Given the description of an element on the screen output the (x, y) to click on. 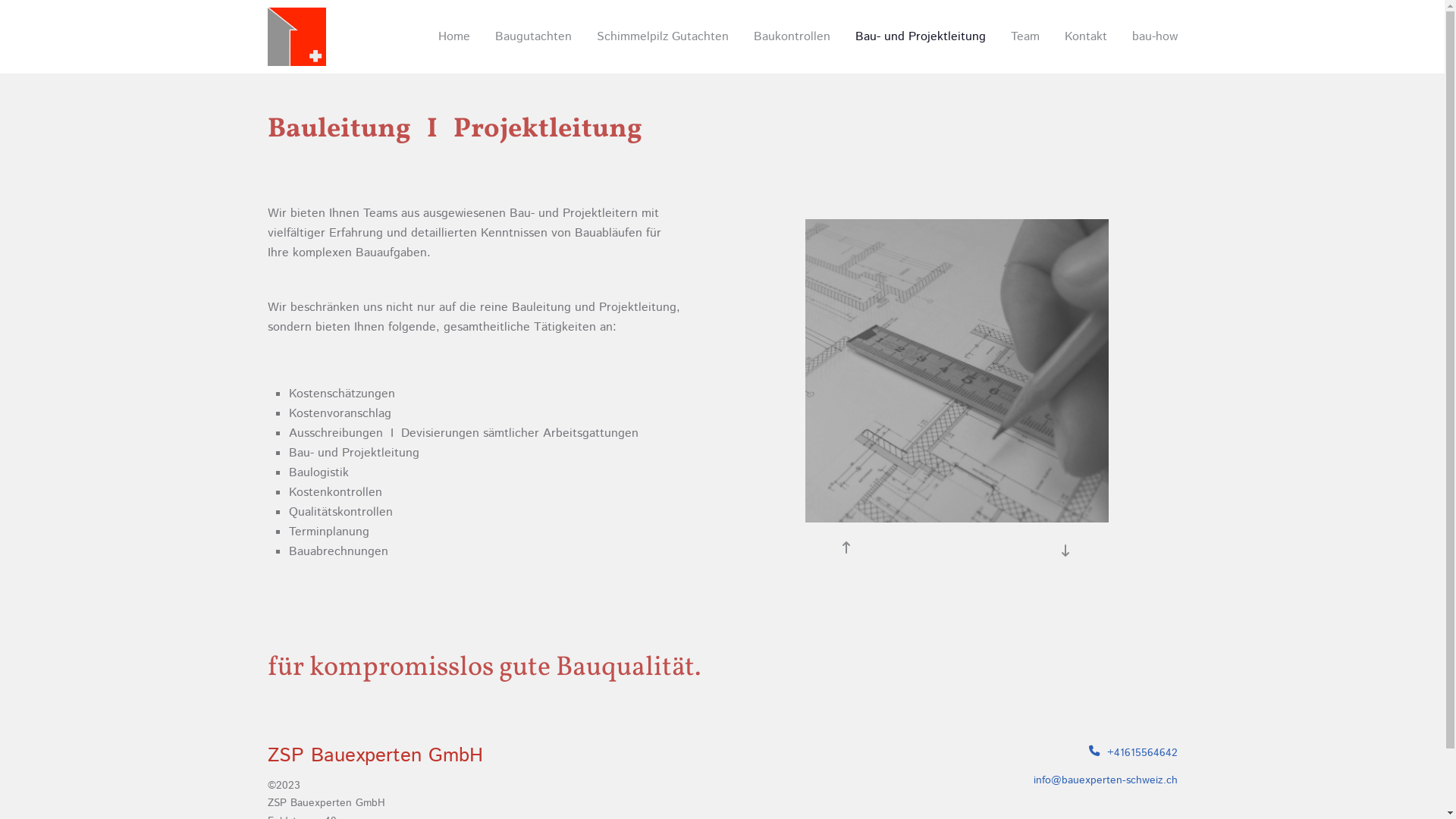
Kontakt Element type: text (1085, 36)
info@bauexperten-schweiz.ch Element type: text (1104, 779)
+41615564642 Element type: text (1132, 752)
Baukontrollen Element type: text (791, 36)
Baugutachten Element type: text (532, 36)
Bau- und Projektleitung Element type: text (920, 36)
Schimmelpilz Gutachten Element type: text (661, 36)
www.bauexperten-schweiz.ch Element type: hover (295, 36)
Home Element type: text (459, 36)
Team Element type: text (1024, 36)
ZSP Bauexperten GmbH Element type: text (374, 759)
bau-how Element type: text (1148, 36)
